Given the description of an element on the screen output the (x, y) to click on. 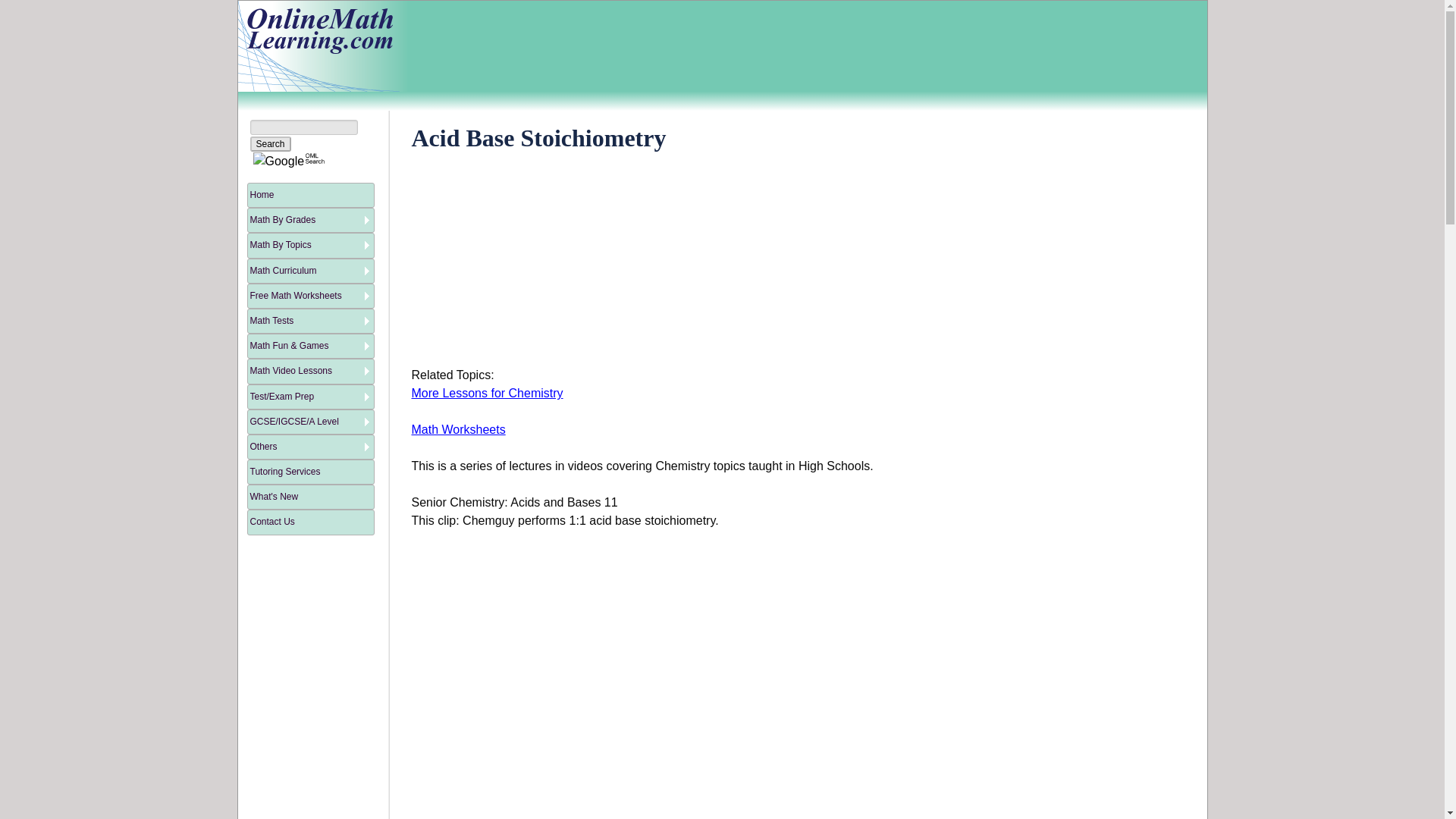
Search (270, 143)
More Lessons for Chemistry (486, 392)
Search (270, 143)
OML Home (317, 45)
Math Worksheets (457, 429)
Math By Topics (310, 244)
Math By Grades (310, 220)
Home (310, 195)
